Given the description of an element on the screen output the (x, y) to click on. 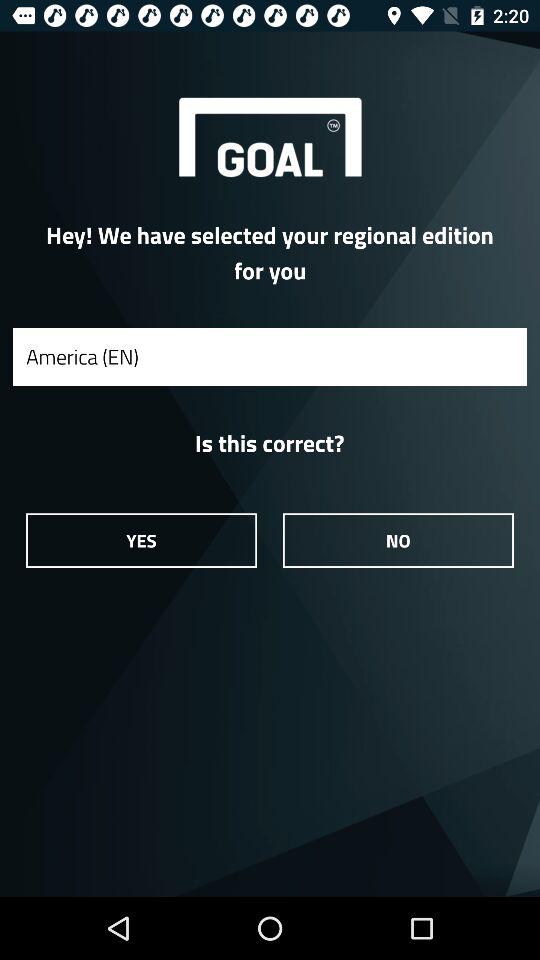
launch the america (en) (269, 356)
